Given the description of an element on the screen output the (x, y) to click on. 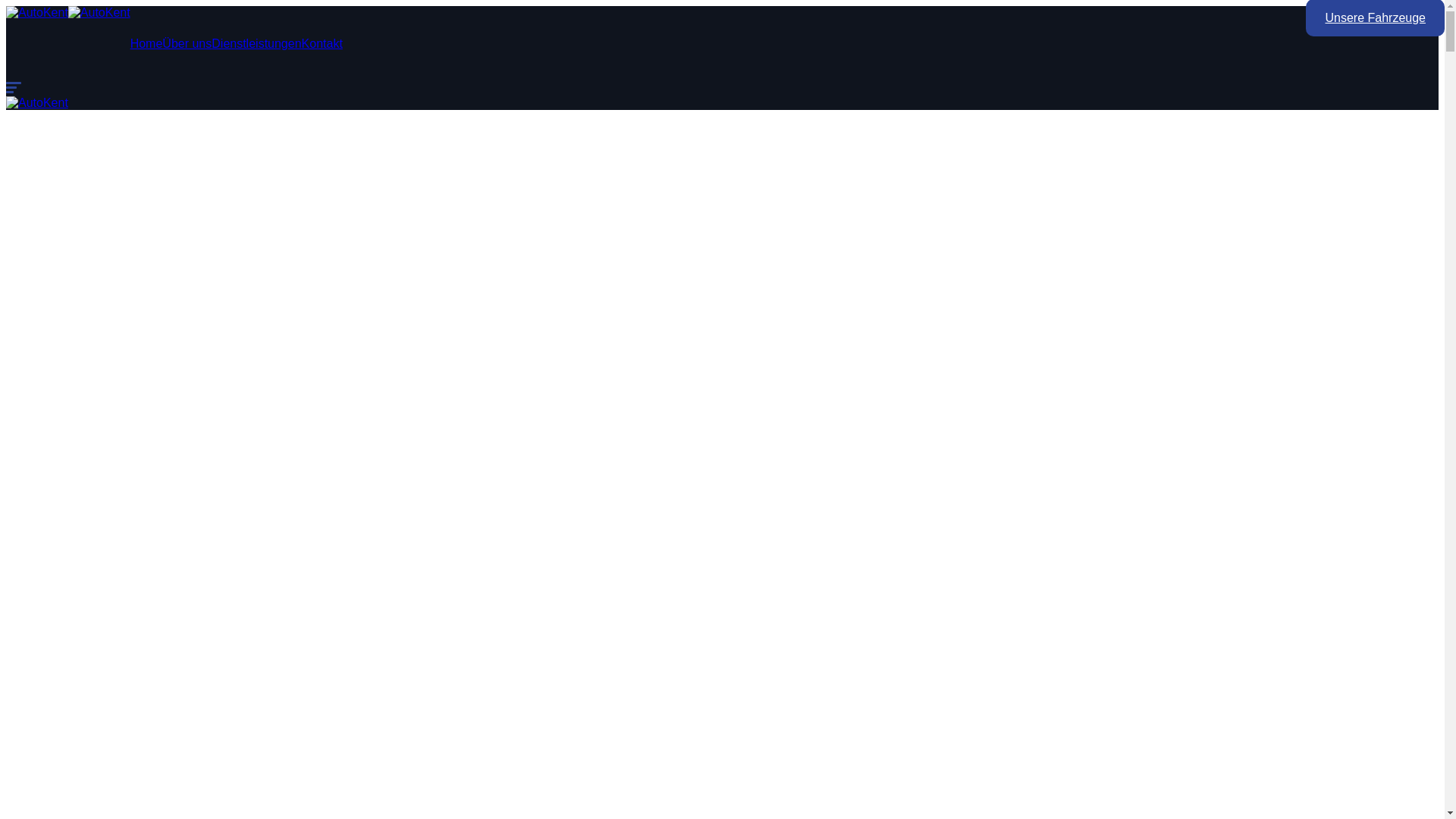
AutoKent Element type: hover (99, 12)
Home Element type: text (146, 43)
Kontakt Element type: text (321, 43)
AutoKent Element type: hover (37, 12)
Dienstleistungen Element type: text (256, 43)
AutoKent Element type: hover (37, 102)
